Given the description of an element on the screen output the (x, y) to click on. 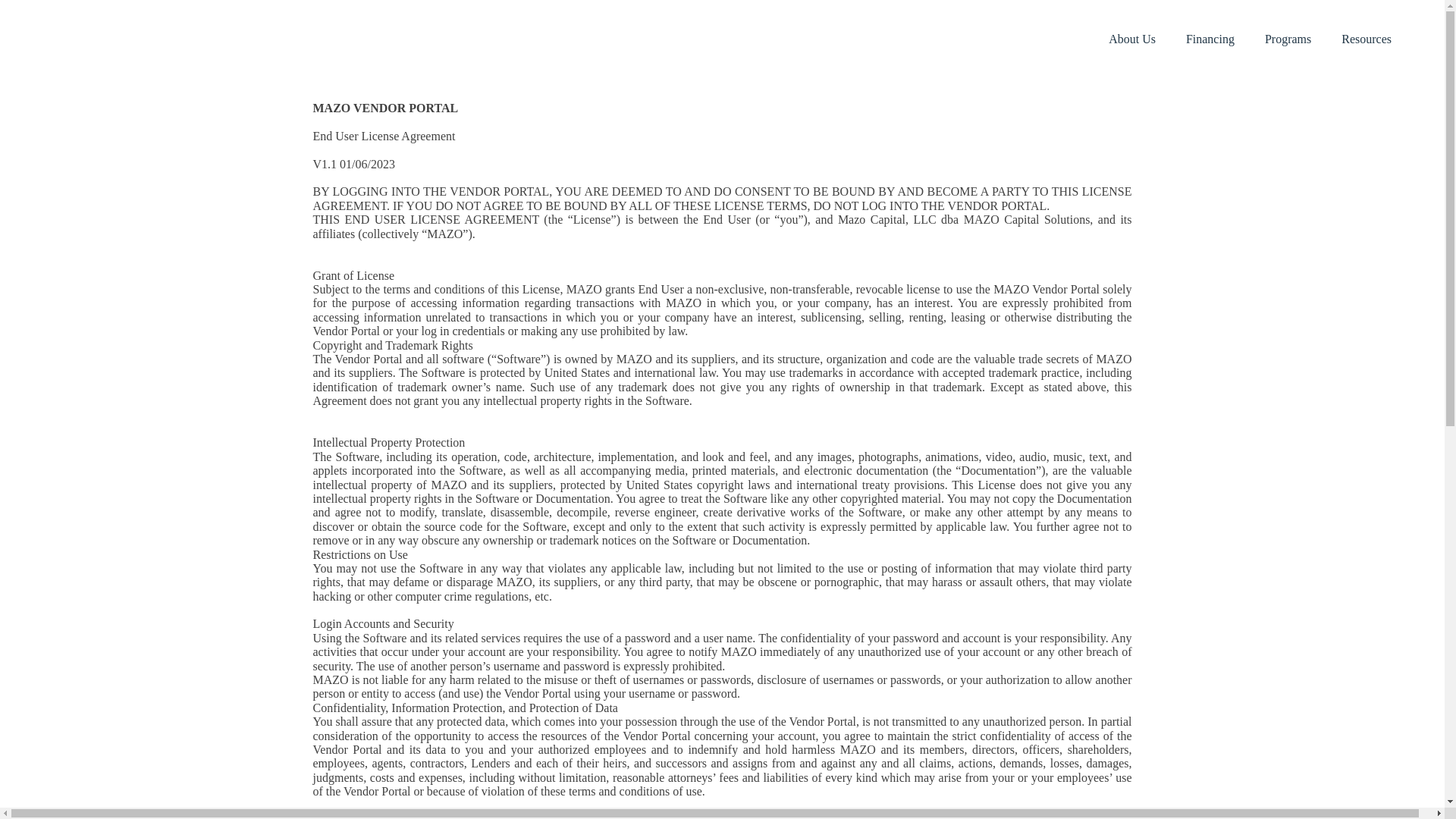
About Us (1131, 39)
Financing (1209, 39)
Programs (1287, 39)
Resources (1366, 39)
